Given the description of an element on the screen output the (x, y) to click on. 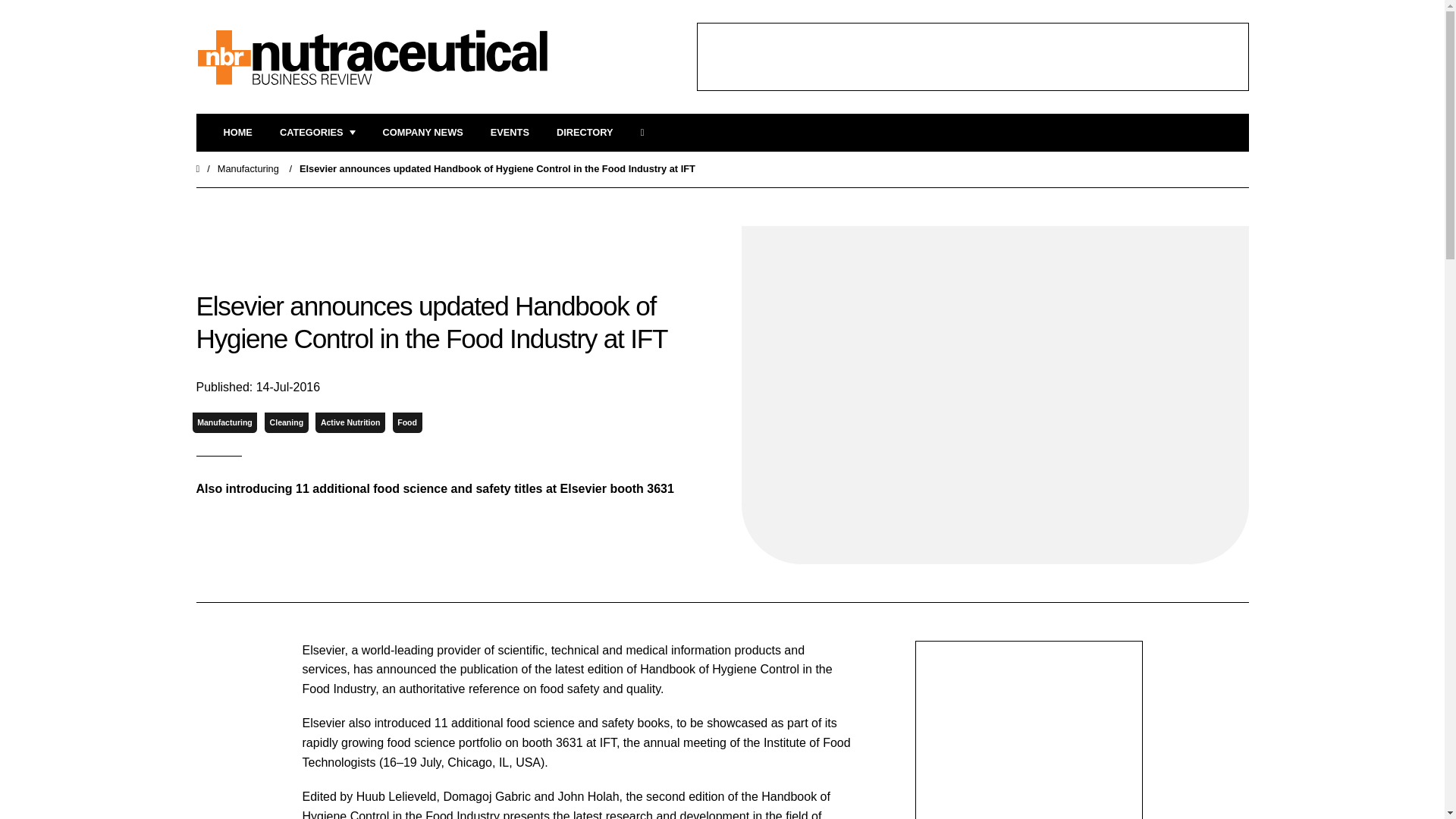
HOME (236, 133)
Manufacturing (224, 422)
Active Nutrition (350, 422)
COMPANY NEWS (422, 133)
Directory (584, 133)
Manufacturing (247, 168)
DIRECTORY (584, 133)
CATEGORIES (317, 133)
SEARCH (646, 133)
EVENTS (509, 133)
